Given the description of an element on the screen output the (x, y) to click on. 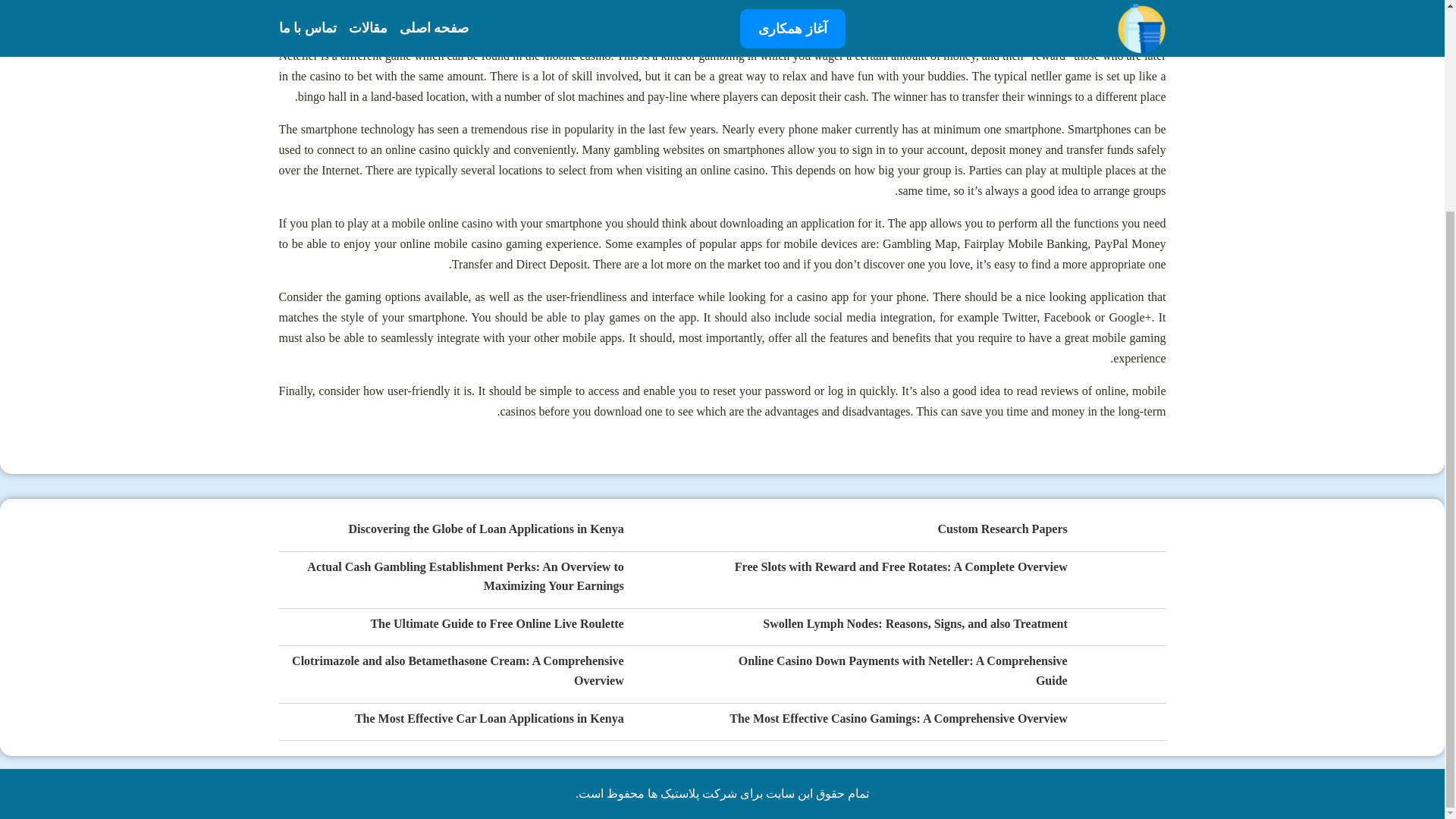
Discovering the Globe of Loan Applications in Kenya (486, 529)
The Most Effective Car Loan Applications in Kenya (489, 719)
The Ultimate Guide to Free Online Live Roulette (496, 624)
Swollen Lymph Nodes: Reasons, Signs, and also Treatment (914, 624)
Free Slots with Reward and Free Rotates: A Complete Overview (901, 567)
The Most Effective Casino Gamings: A Comprehensive Overview (898, 719)
Custom Research Papers (1002, 529)
